Given the description of an element on the screen output the (x, y) to click on. 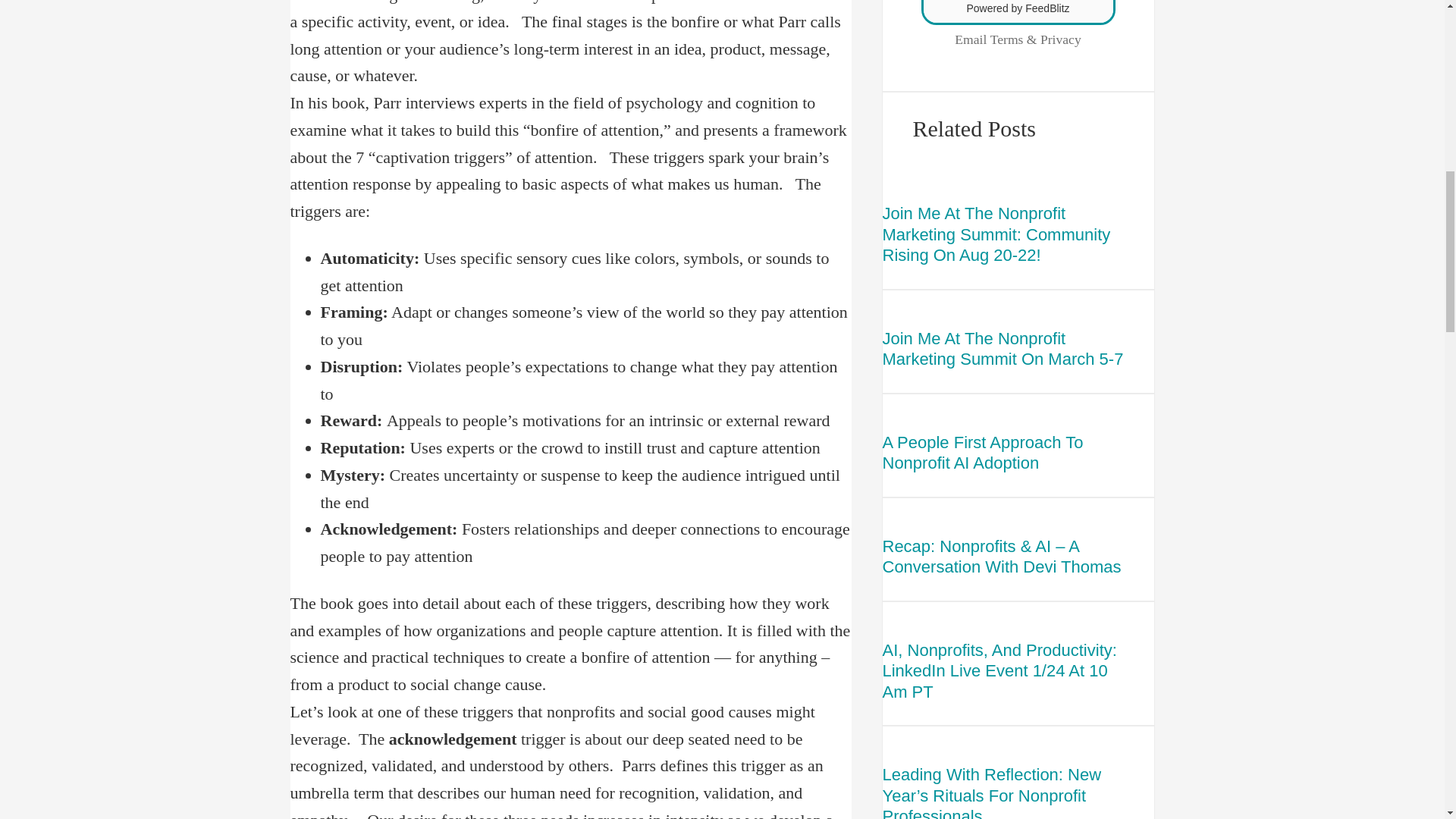
Email subscriptions terms of service (1006, 38)
Join Me At The Nonprofit Marketing Summit On March 5-7 (1003, 349)
A People First Approach To Nonprofit AI Adoption (1003, 453)
Terms (1006, 38)
Email subscriptions privacy policy (1061, 38)
Privacy (1061, 38)
Powered by FeedBlitz (1017, 8)
